Given the description of an element on the screen output the (x, y) to click on. 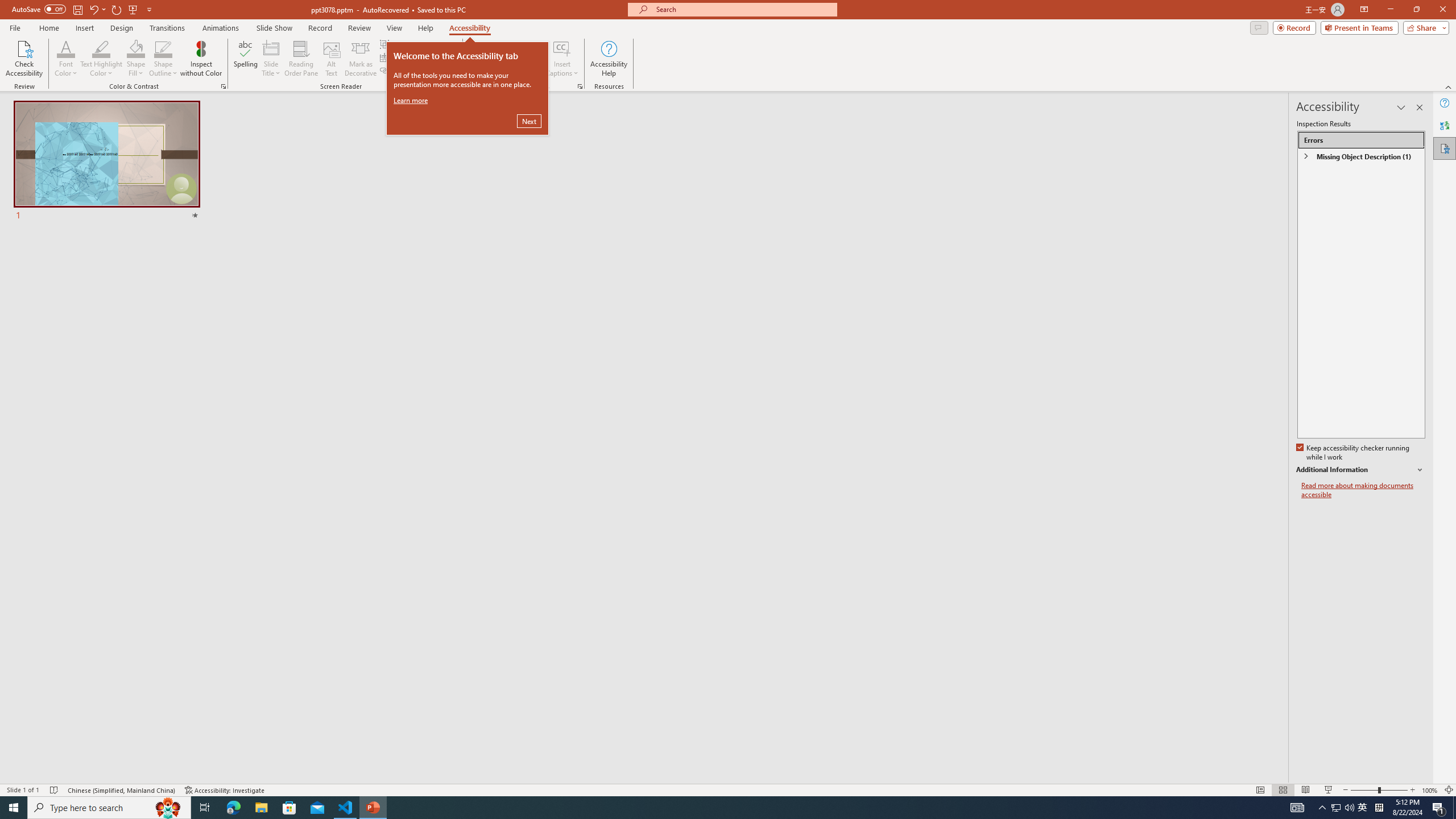
Subtitle Settings (502, 67)
Keep accessibility checker running while I work (1353, 452)
Reading Order Pane (301, 58)
Read more about making documents accessible (1363, 489)
Link Text (399, 69)
